Given the description of an element on the screen output the (x, y) to click on. 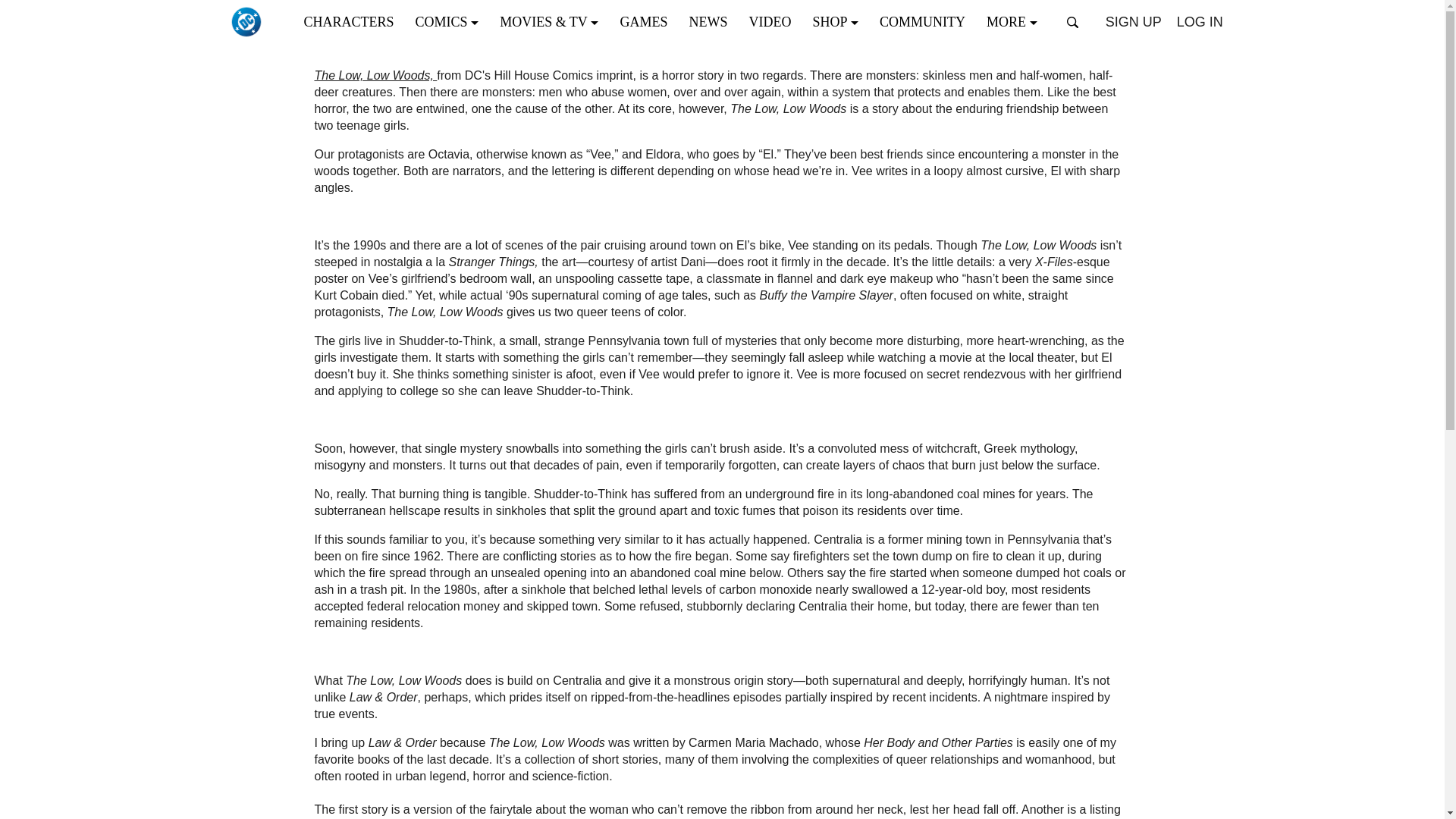
Open search (1072, 22)
CHARACTERS (353, 21)
COMICS (452, 21)
